Given the description of an element on the screen output the (x, y) to click on. 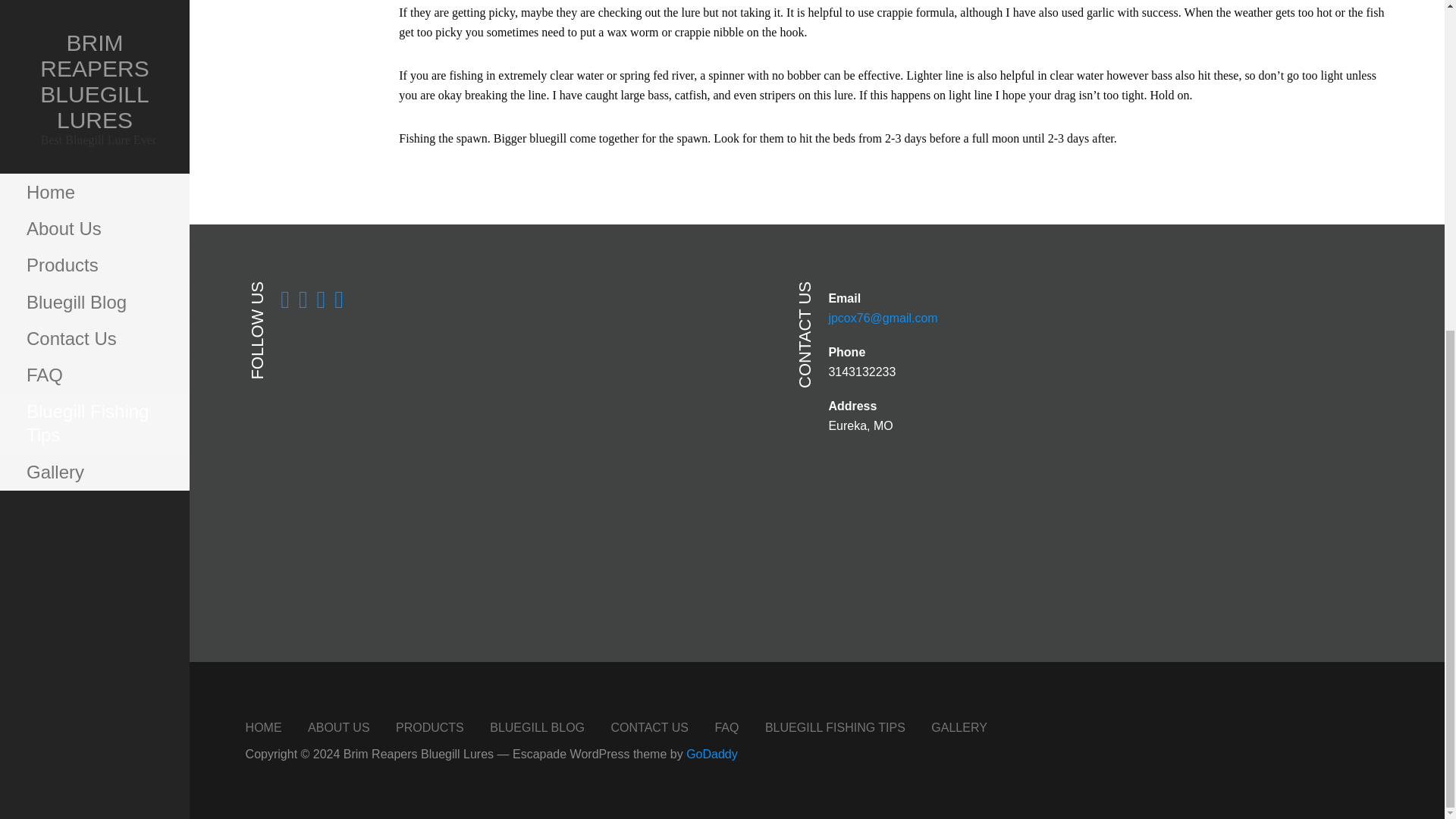
HOME (264, 727)
ABOUT US (338, 727)
FAQ (726, 727)
BLUEGILL BLOG (537, 727)
GALLERY (959, 727)
PRODUCTS (430, 727)
CONTACT US (649, 727)
GoDaddy (711, 753)
BLUEGILL FISHING TIPS (835, 727)
